Given the description of an element on the screen output the (x, y) to click on. 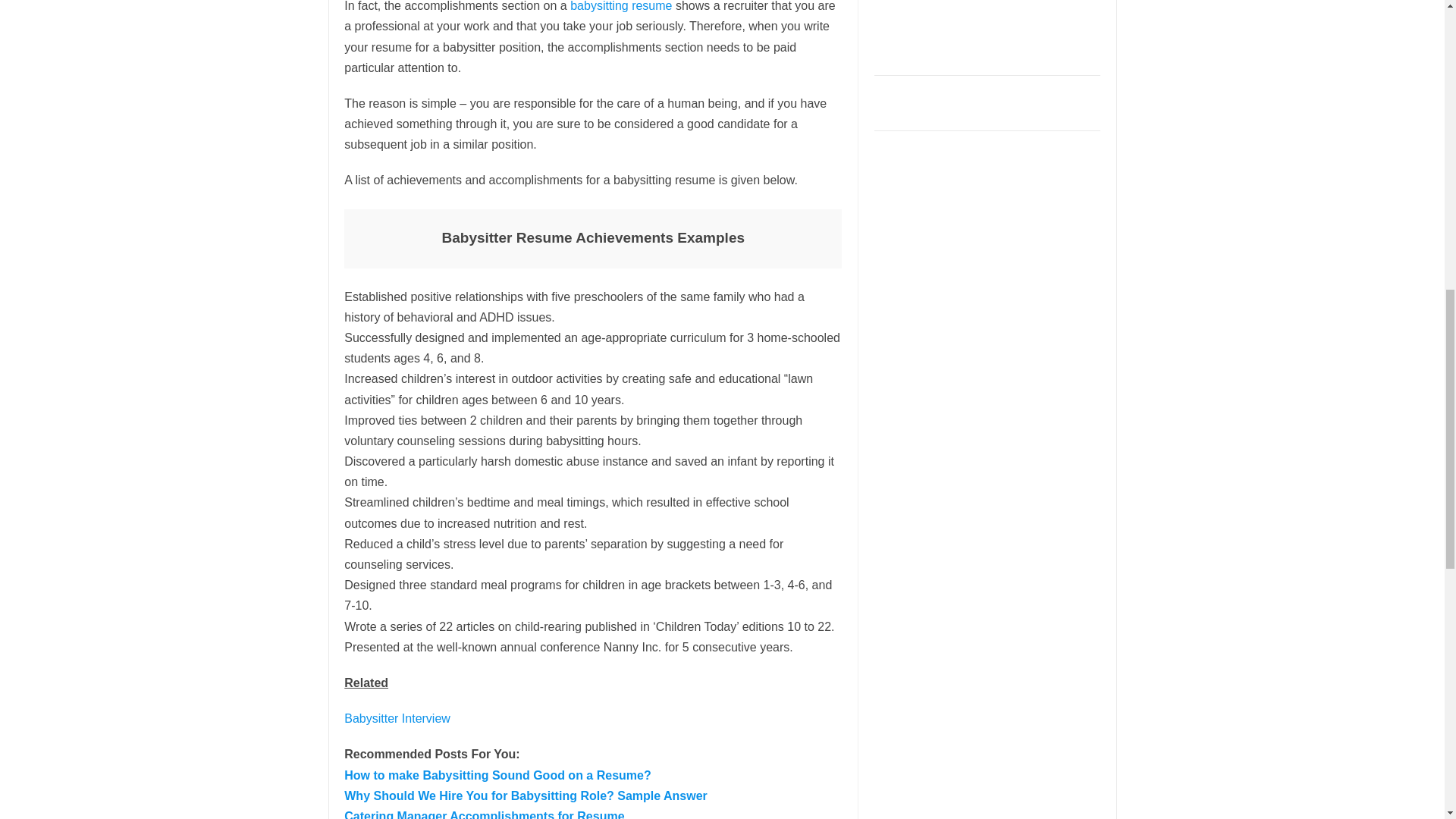
Babysitter Interview (396, 717)
Catering Manager Accomplishments for Resume (483, 814)
babysitting resume (620, 6)
Why Should We Hire You for Babysitting Role? Sample Answer (525, 795)
How to make Babysitting Sound Good on a Resume? (496, 775)
Why Should We Hire You for Babysitting Role? Sample Answer (525, 795)
Catering Manager Accomplishments for Resume (483, 814)
How to make Babysitting Sound Good on a Resume? (496, 775)
Advertisement (988, 33)
